Given the description of an element on the screen output the (x, y) to click on. 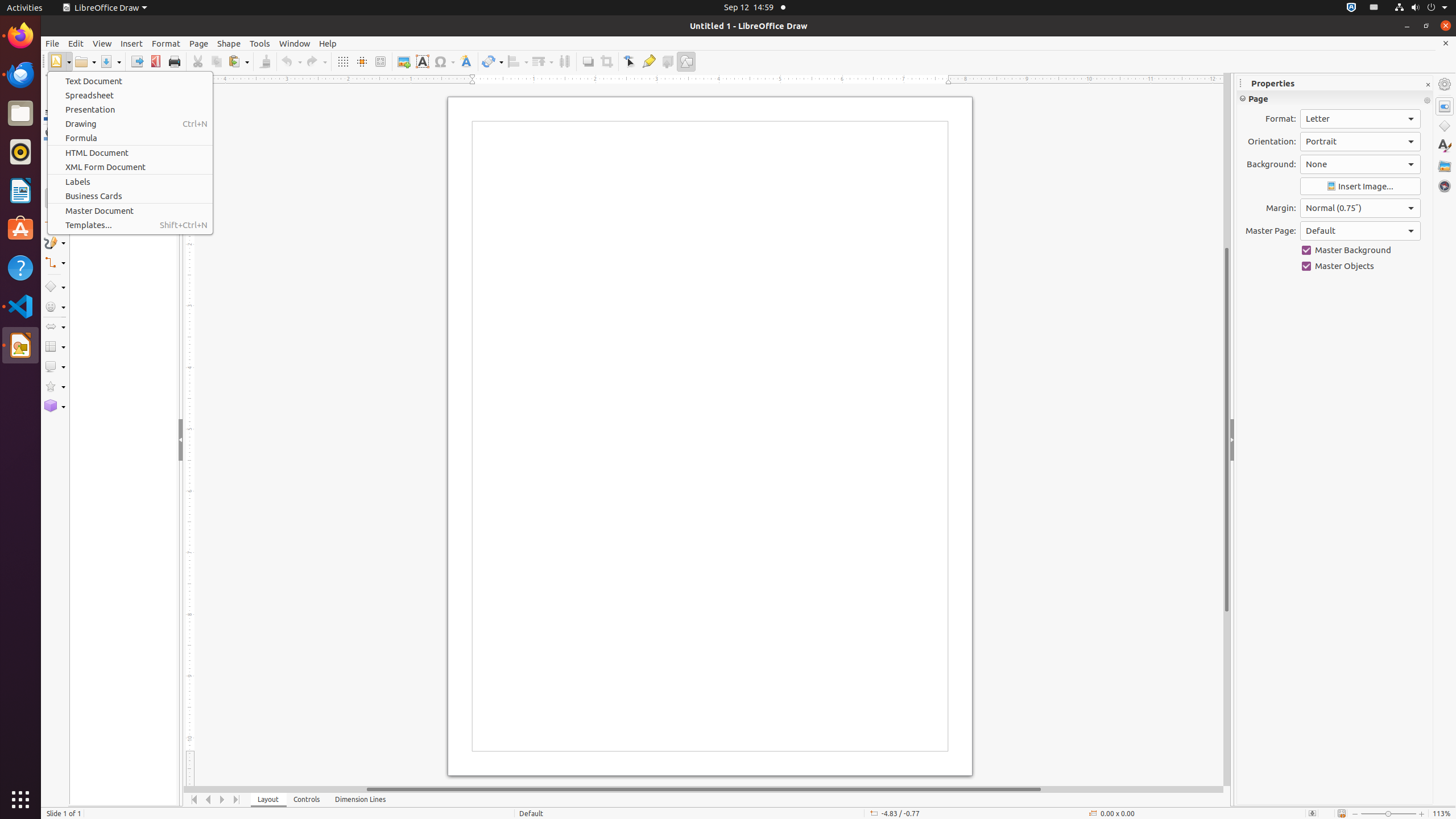
:1.21/StatusNotifierItem Element type: menu (1373, 7)
LibreOffice Draw Element type: menu (103, 7)
:1.72/StatusNotifierItem Element type: menu (1350, 7)
Visual Studio Code Element type: push-button (20, 306)
